Given the description of an element on the screen output the (x, y) to click on. 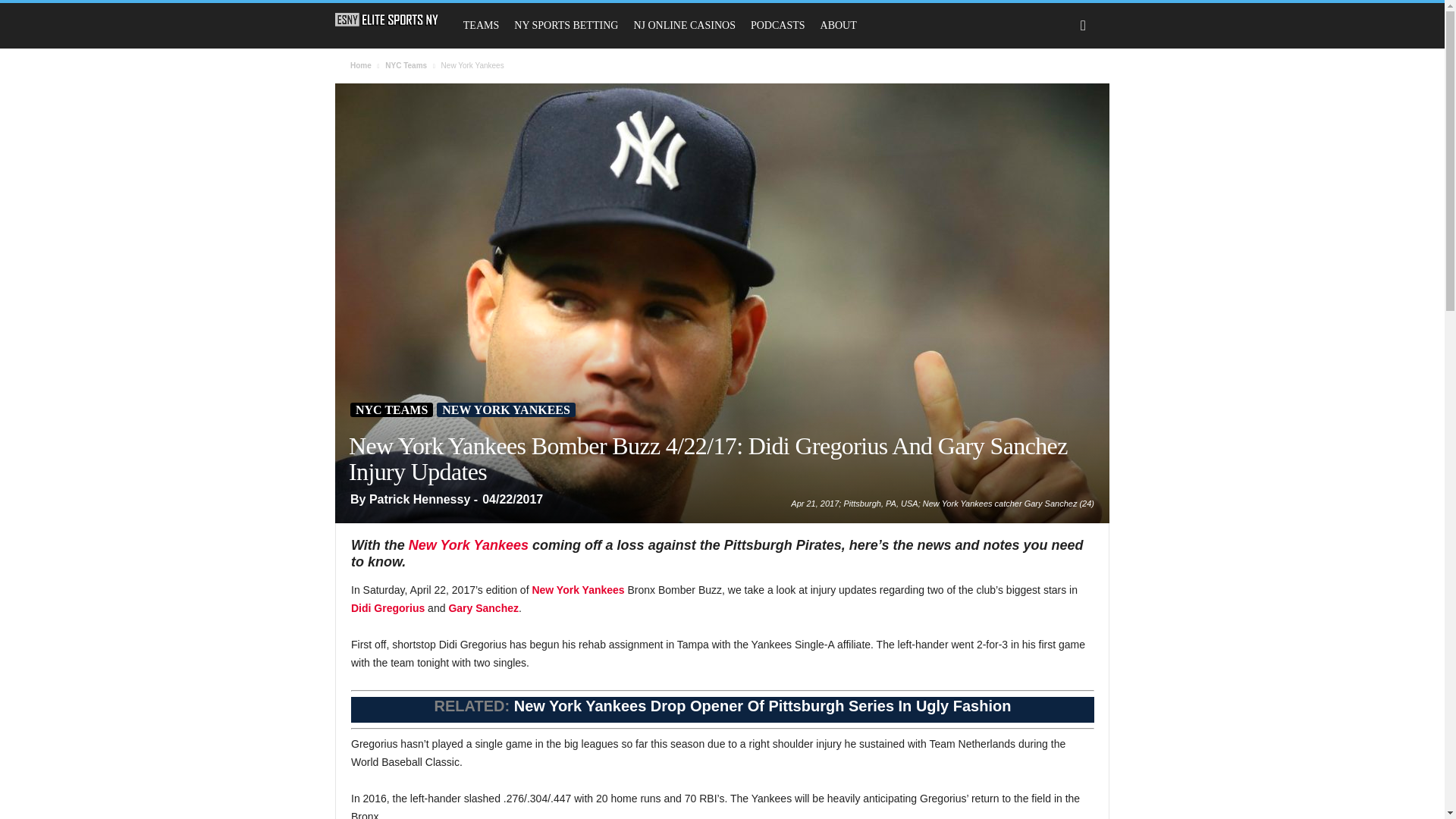
Elite Sports NY (386, 19)
New York Yankees (468, 544)
New York Yankees (577, 589)
TEAMS (480, 25)
View all posts in NYC Teams (405, 65)
Elite Sports NY (394, 19)
